Given the description of an element on the screen output the (x, y) to click on. 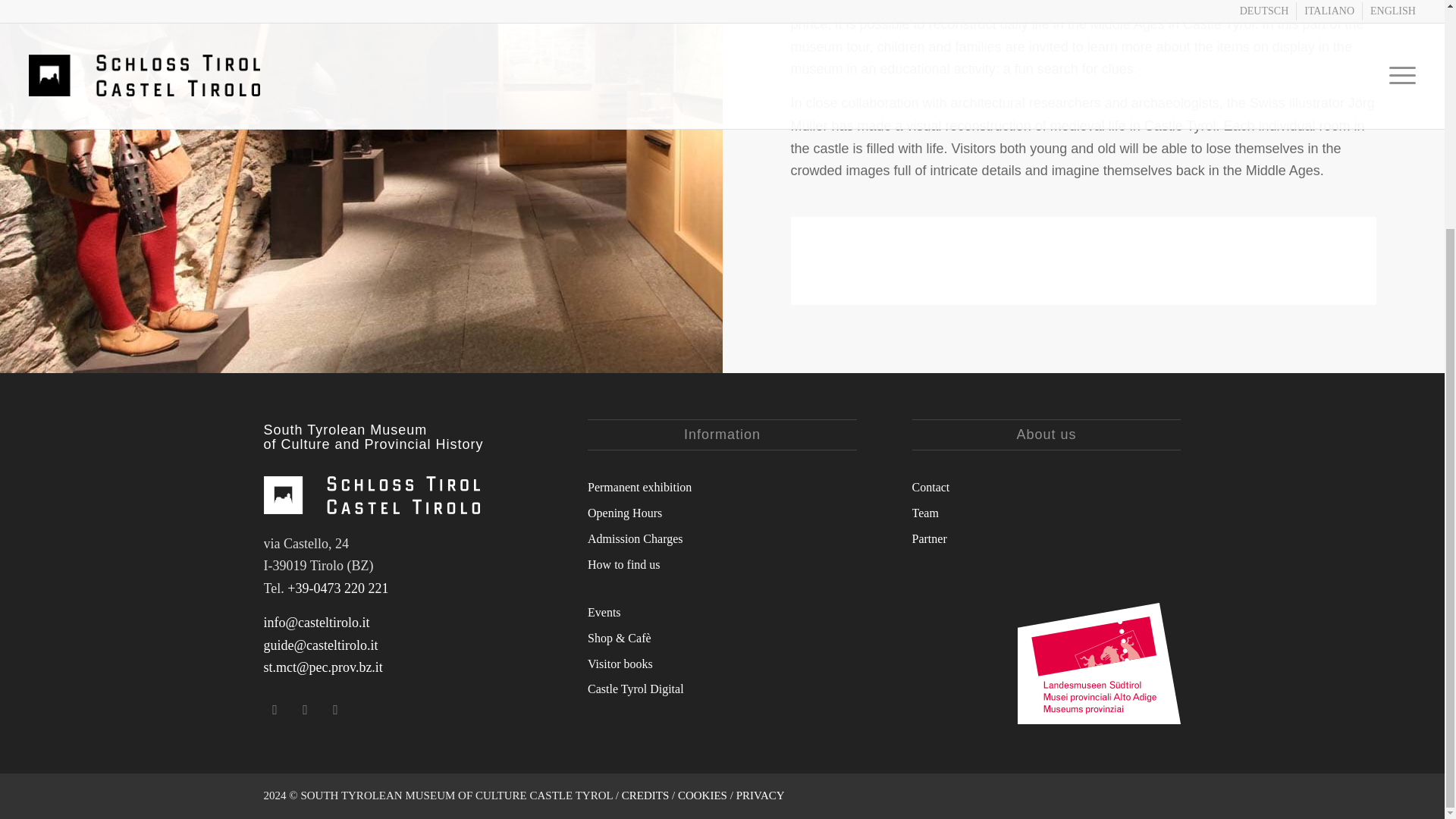
Visitor books (722, 662)
Events (722, 611)
How to find us (722, 563)
Permanent exhibition (722, 485)
Contact (1046, 485)
Castle Tyrol Digital (722, 687)
Opening Hours (722, 511)
Admission Charges (722, 537)
